Given the description of an element on the screen output the (x, y) to click on. 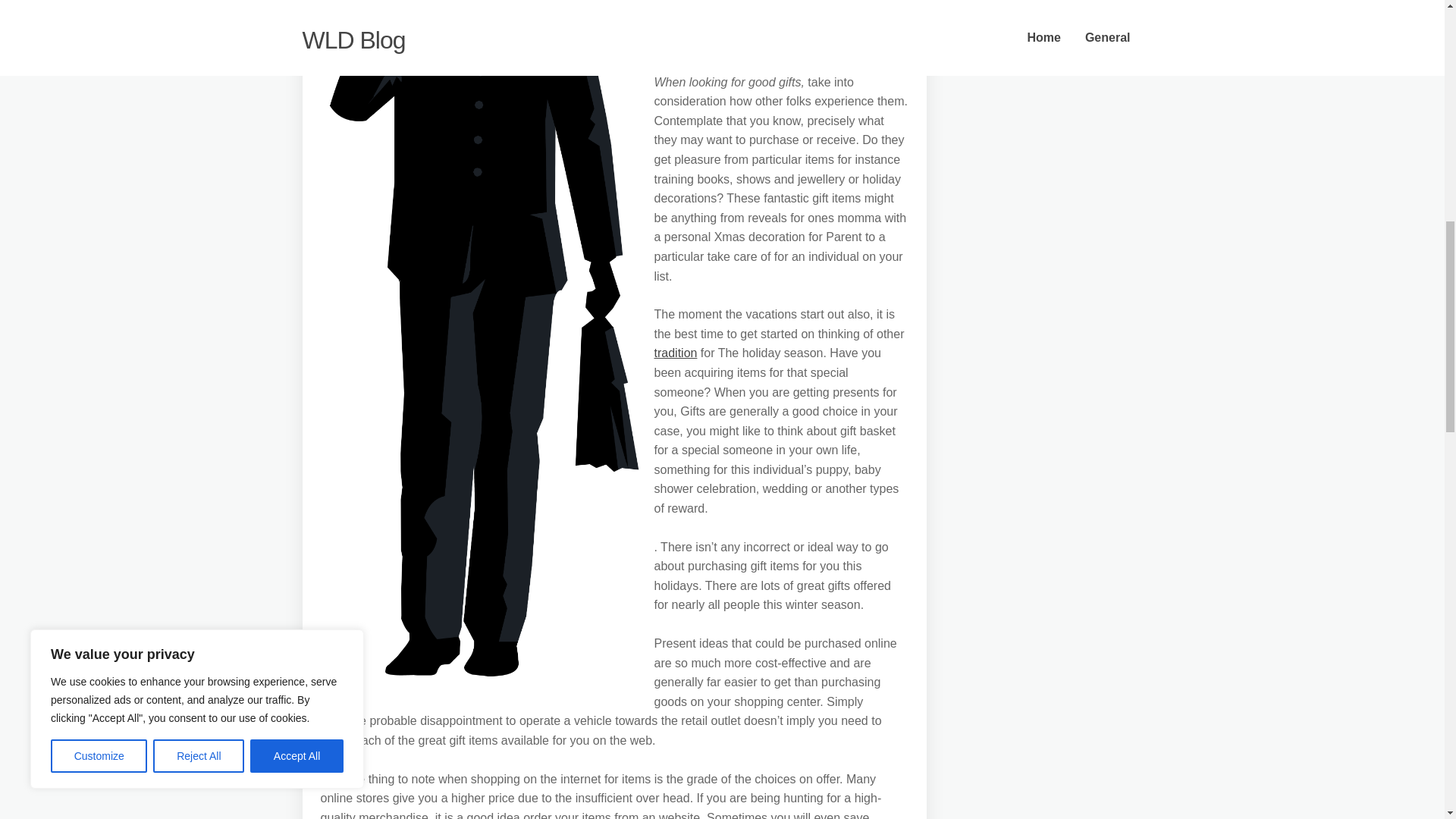
Limoges Box (834, 23)
implore (673, 42)
tradition (675, 352)
